Given the description of an element on the screen output the (x, y) to click on. 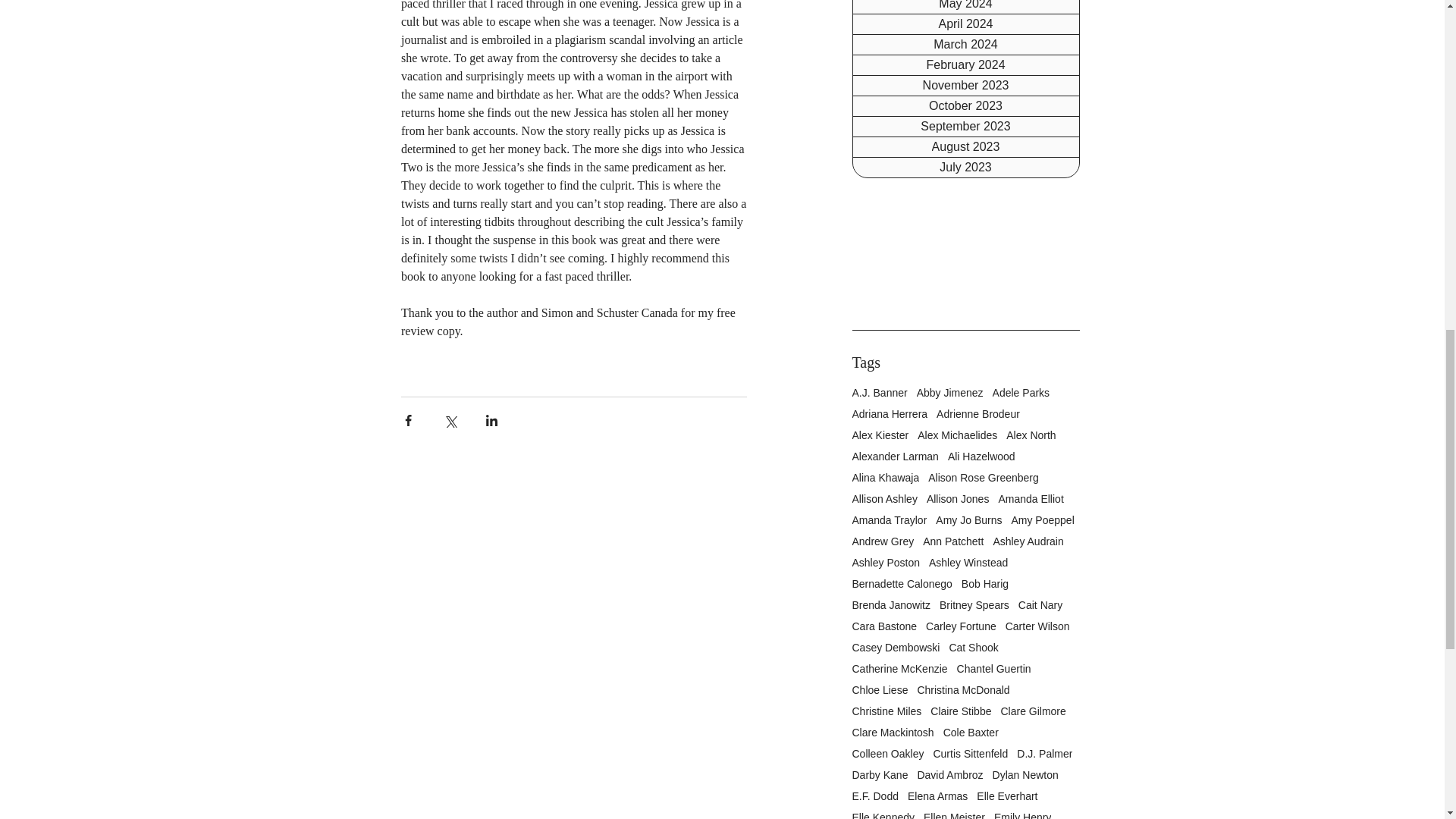
Adrienne Brodeur (978, 413)
Alex Michaelides (957, 435)
September 2023 (964, 126)
A.J. Banner (879, 392)
May 2024 (964, 6)
Alina Khawaja (885, 477)
Alexander Larman (895, 456)
November 2023 (964, 85)
February 2024 (964, 65)
Alex Kiester (879, 435)
Allison Jones (958, 499)
Adriana Herrera (889, 413)
Andrew Grey (882, 541)
August 2023 (964, 147)
Adele Parks (1020, 392)
